Given the description of an element on the screen output the (x, y) to click on. 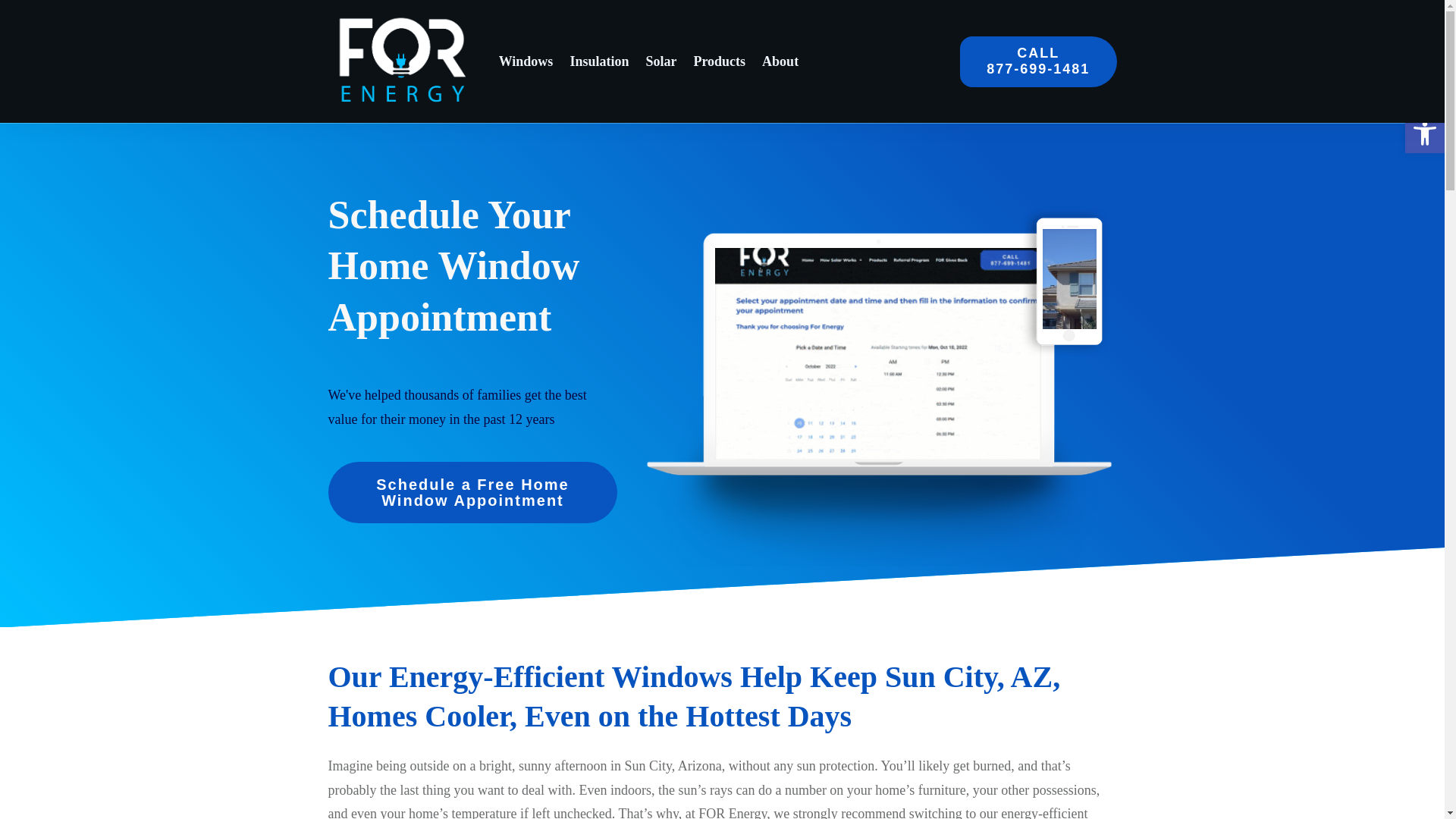
About FOR Energy (779, 61)
Windows (526, 61)
Products (719, 61)
Products (719, 61)
Schedule a Free Home Window Appointment (472, 492)
Accessibility Tools (1424, 133)
About (779, 61)
Insulation (598, 61)
Solar (1037, 61)
